Given the description of an element on the screen output the (x, y) to click on. 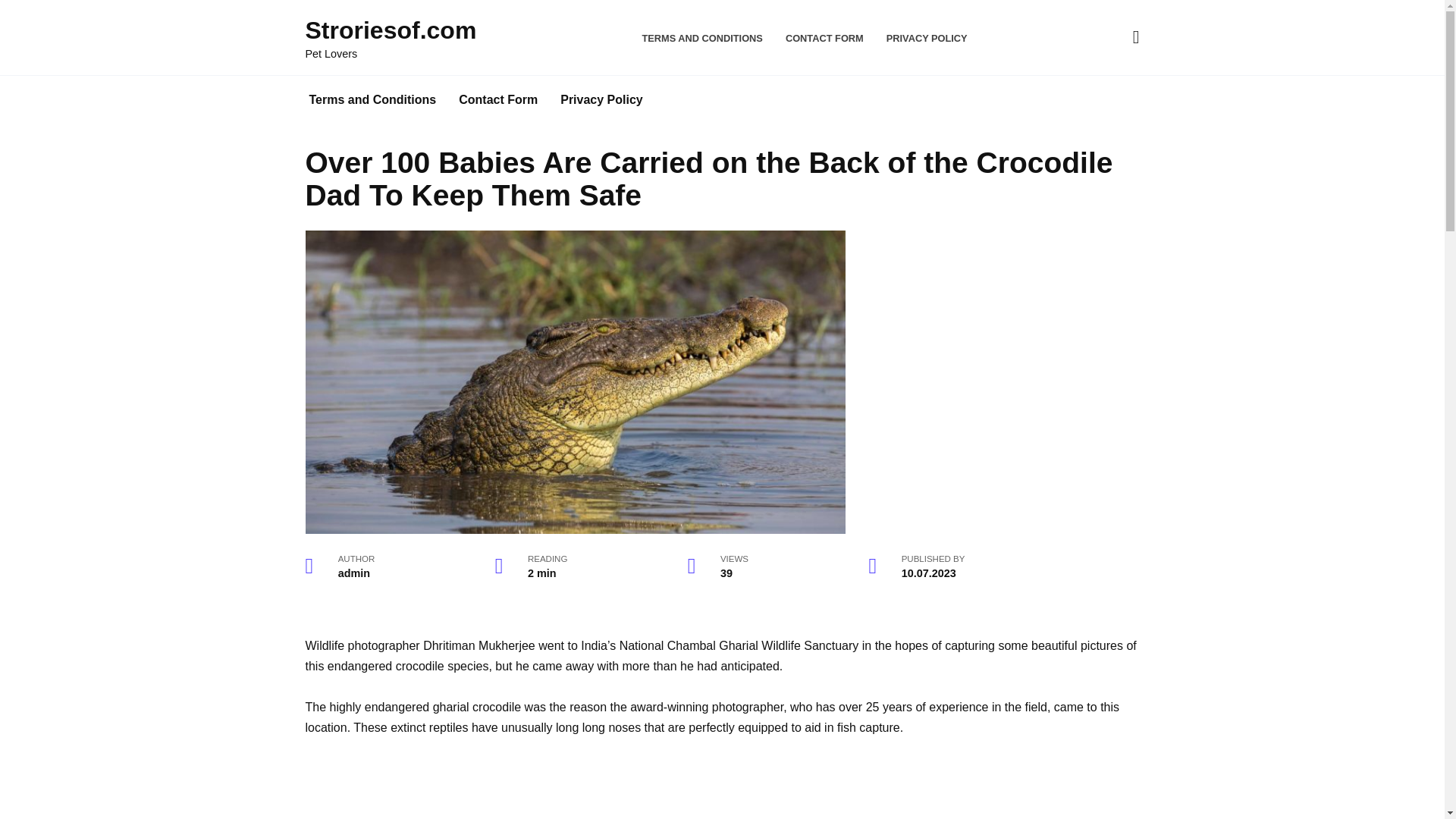
PRIVACY POLICY (927, 38)
Stroriesof.com (390, 30)
TERMS AND CONDITIONS (702, 38)
Privacy Policy (600, 100)
Terms and Conditions (371, 100)
CONTACT FORM (824, 38)
Contact Form (497, 100)
